Given the description of an element on the screen output the (x, y) to click on. 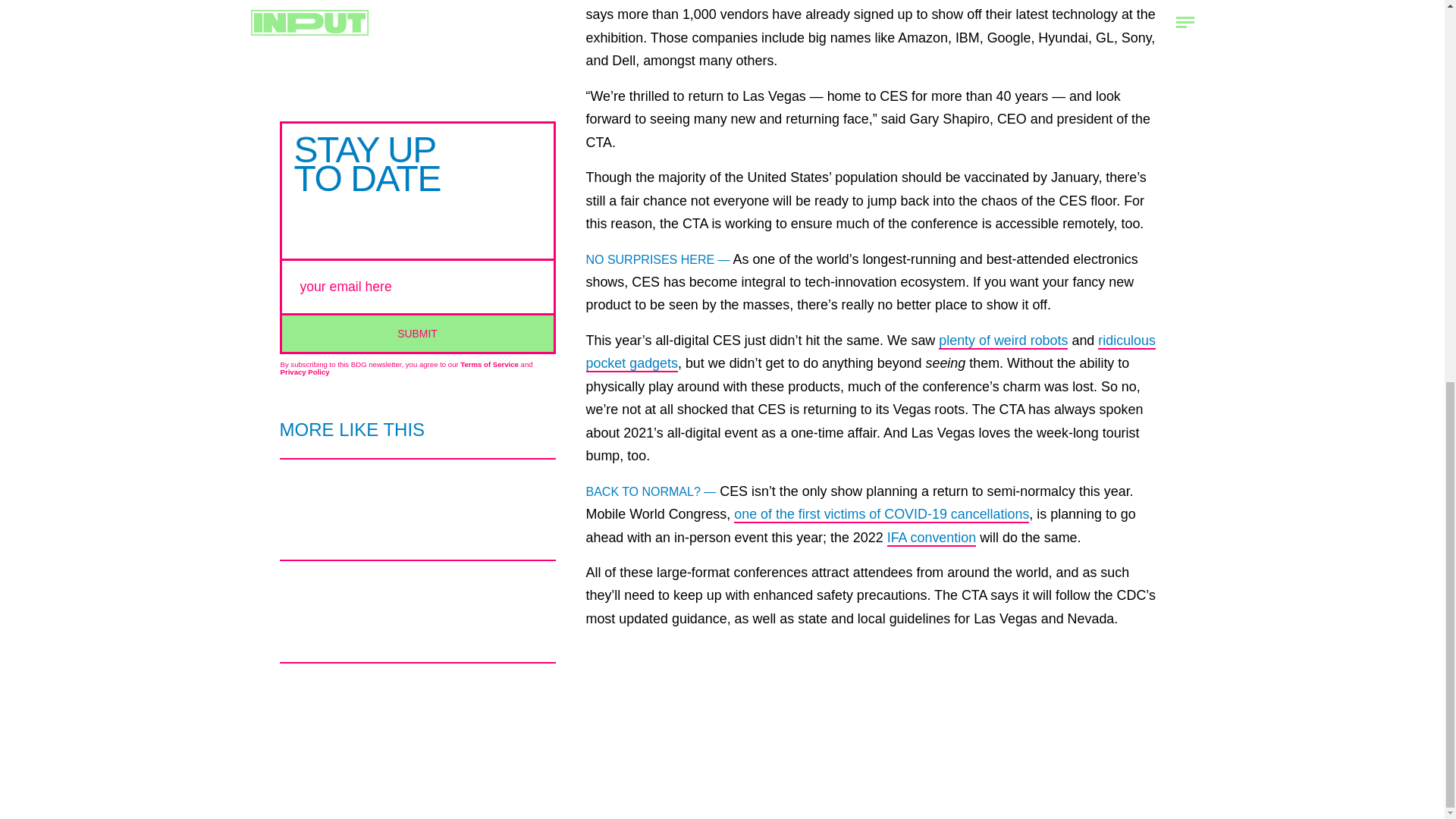
plenty of weird robots (1003, 340)
SUBMIT (417, 331)
ridiculous pocket gadgets (869, 352)
Privacy Policy (305, 371)
Terms of Service (489, 364)
IFA convention (930, 538)
one of the first victims of COVID-19 cancellations (881, 514)
